Given the description of an element on the screen output the (x, y) to click on. 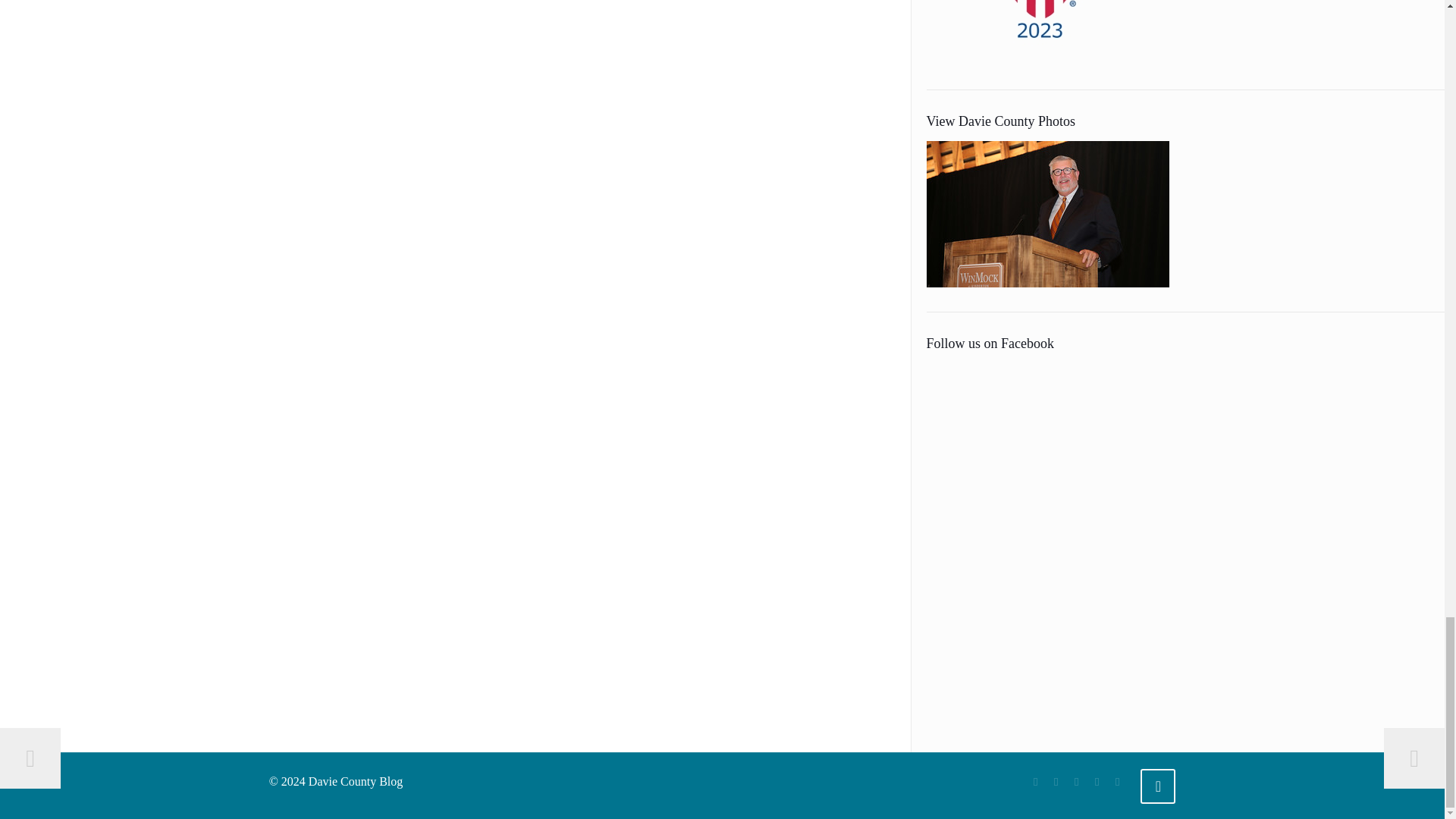
RSS (1097, 781)
Twitter (1056, 781)
Facebook (1035, 781)
Flickr (1076, 781)
